Given the description of an element on the screen output the (x, y) to click on. 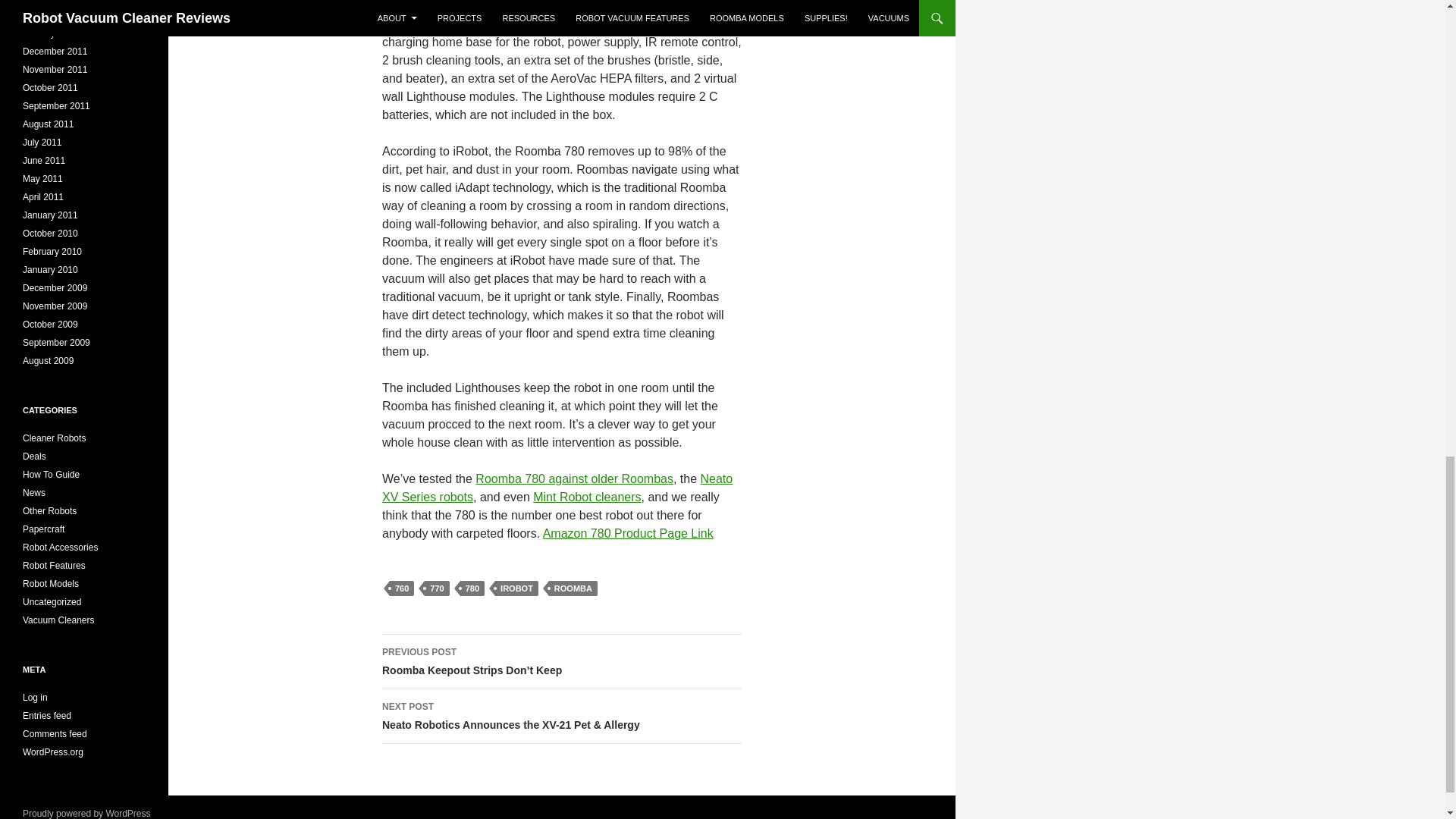
Neato XV Series robots (556, 487)
Mint Robot cleaners (586, 496)
IROBOT (516, 588)
Roomba 780 against older Roombas (574, 478)
760 (401, 588)
780 (472, 588)
ROOMBA (572, 588)
770 (436, 588)
Amazon 780 Product Page Link (628, 533)
